Given the description of an element on the screen output the (x, y) to click on. 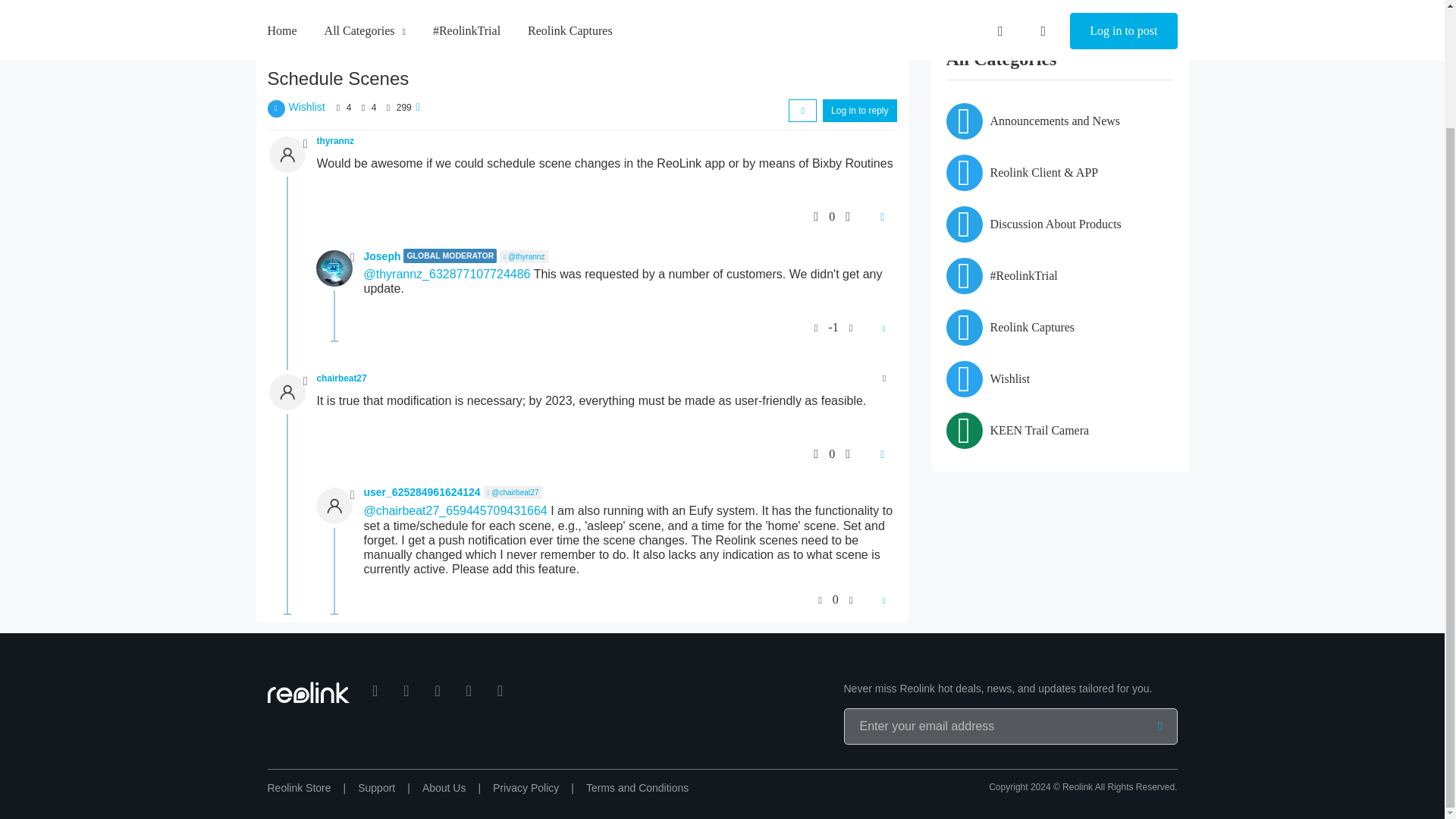
Sort by (802, 107)
Wishlist (306, 103)
Log in to reply (859, 107)
thyrannz (336, 140)
299 (404, 104)
Posters (338, 103)
Posts (362, 103)
Views (387, 103)
